Given the description of an element on the screen output the (x, y) to click on. 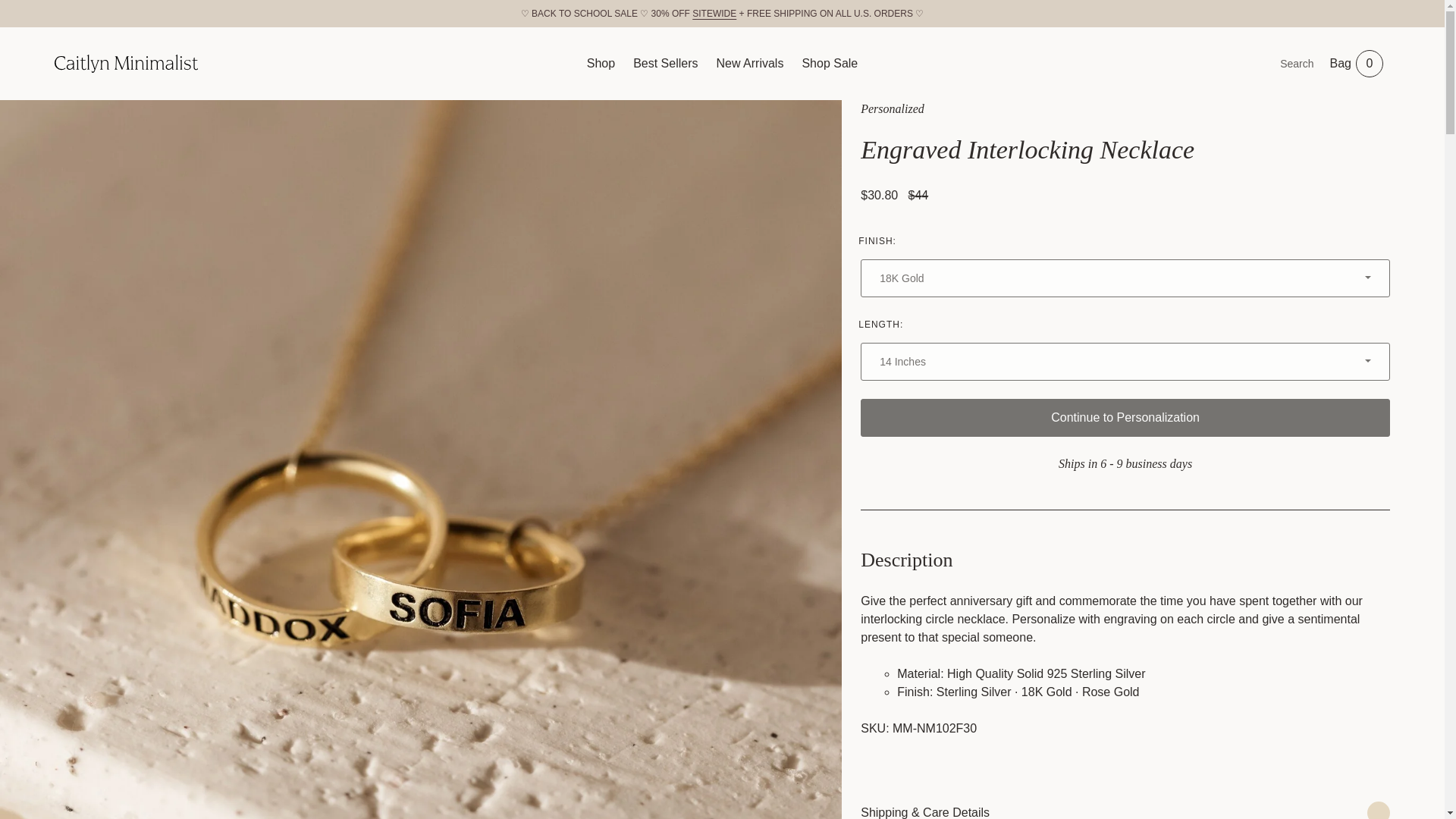
Search (1247, 63)
SITEWIDE (714, 13)
Best Sellers (665, 63)
New Arrivals (1356, 63)
Shop Sale (749, 63)
